Given the description of an element on the screen output the (x, y) to click on. 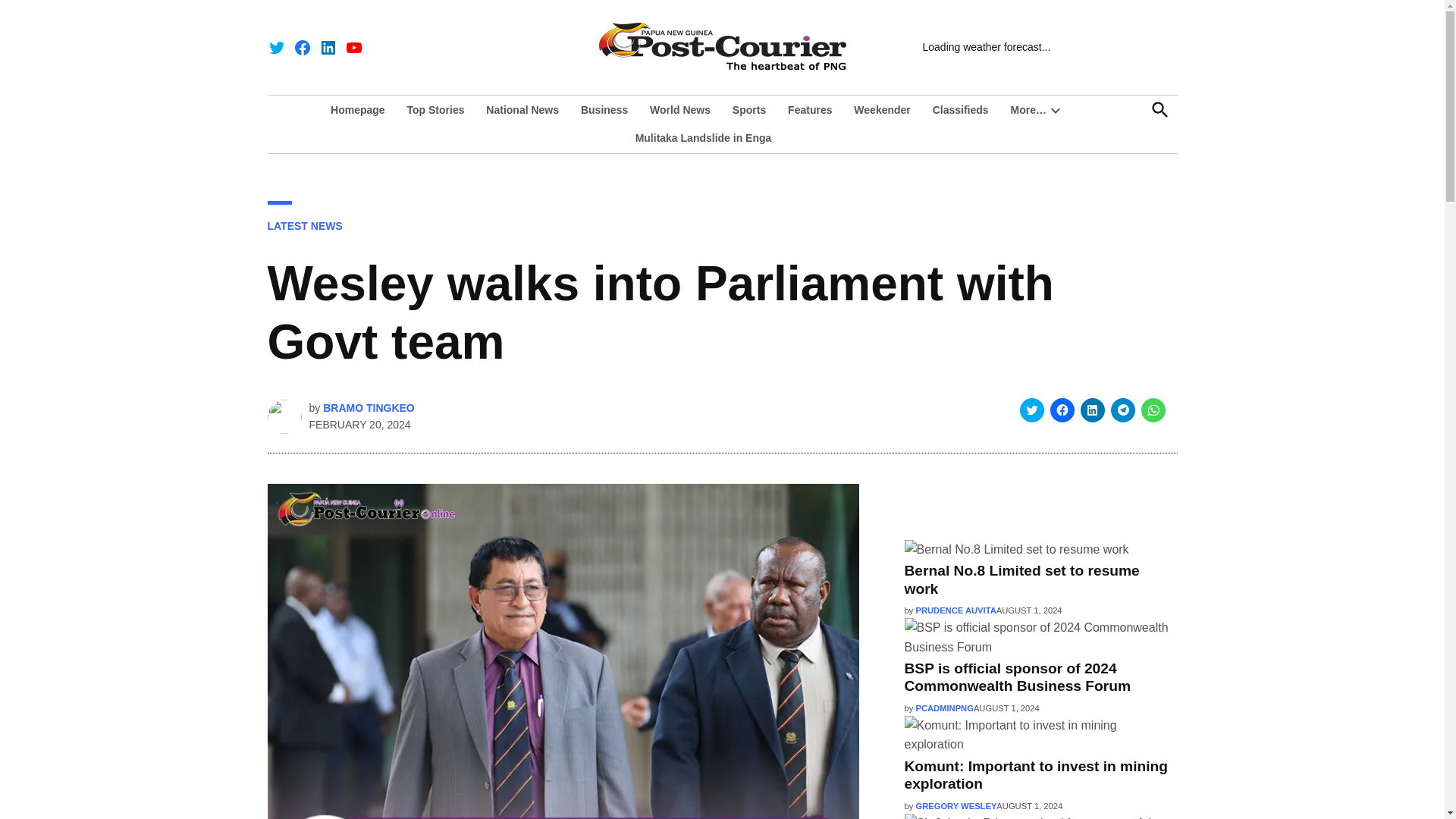
Click to share on Facebook (1061, 410)
Twitter (275, 46)
Post Courier (1025, 56)
Facebook (301, 46)
Click to share on Telegram (1121, 410)
YouTube (352, 46)
Click to share on WhatsApp (1152, 410)
Click to share on Twitter (1031, 410)
Click to share on LinkedIn (1091, 410)
Homepage (361, 109)
Top Stories (434, 109)
LinkedIn (327, 46)
